Given the description of an element on the screen output the (x, y) to click on. 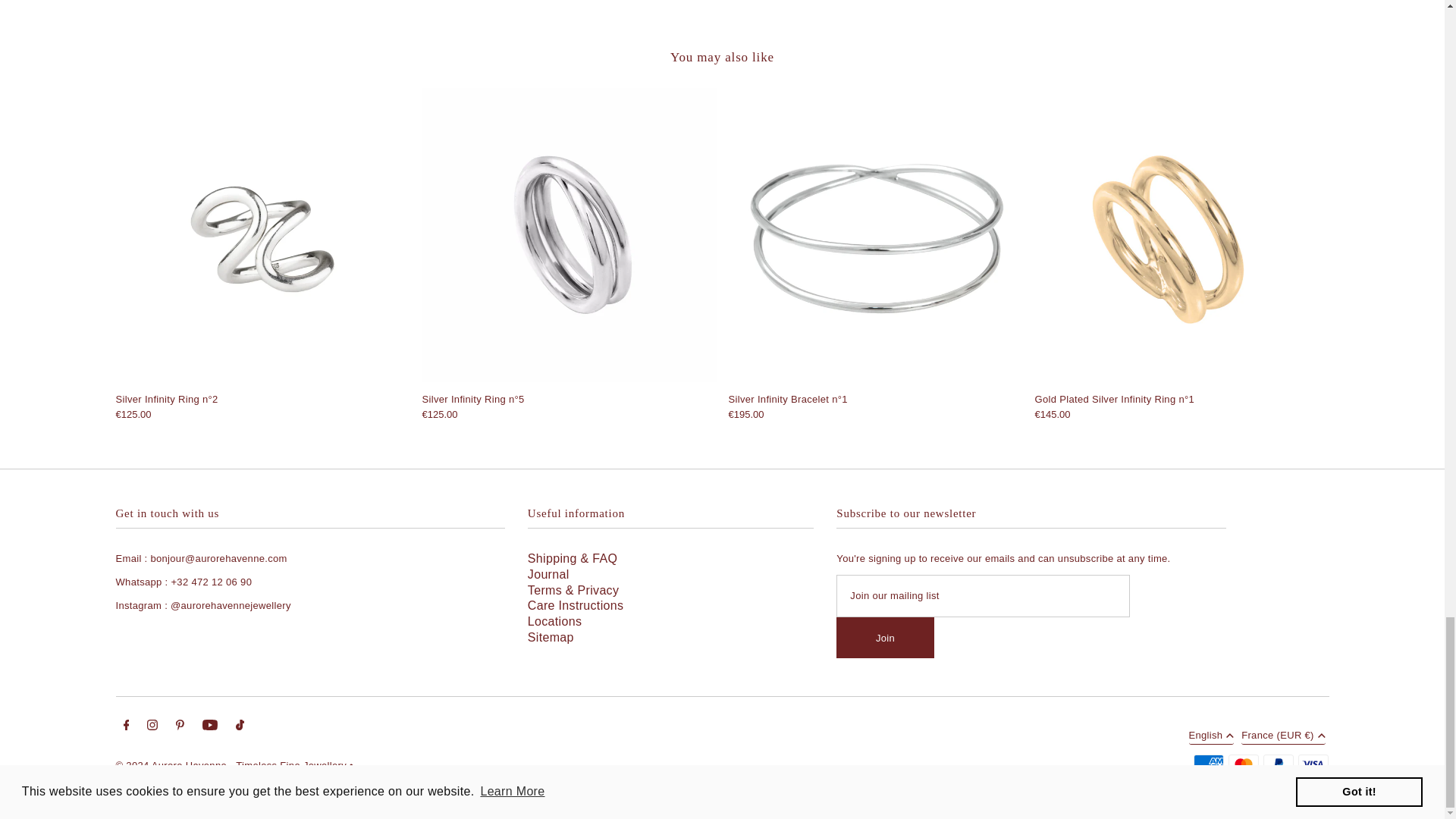
Join (884, 637)
